Given the description of an element on the screen output the (x, y) to click on. 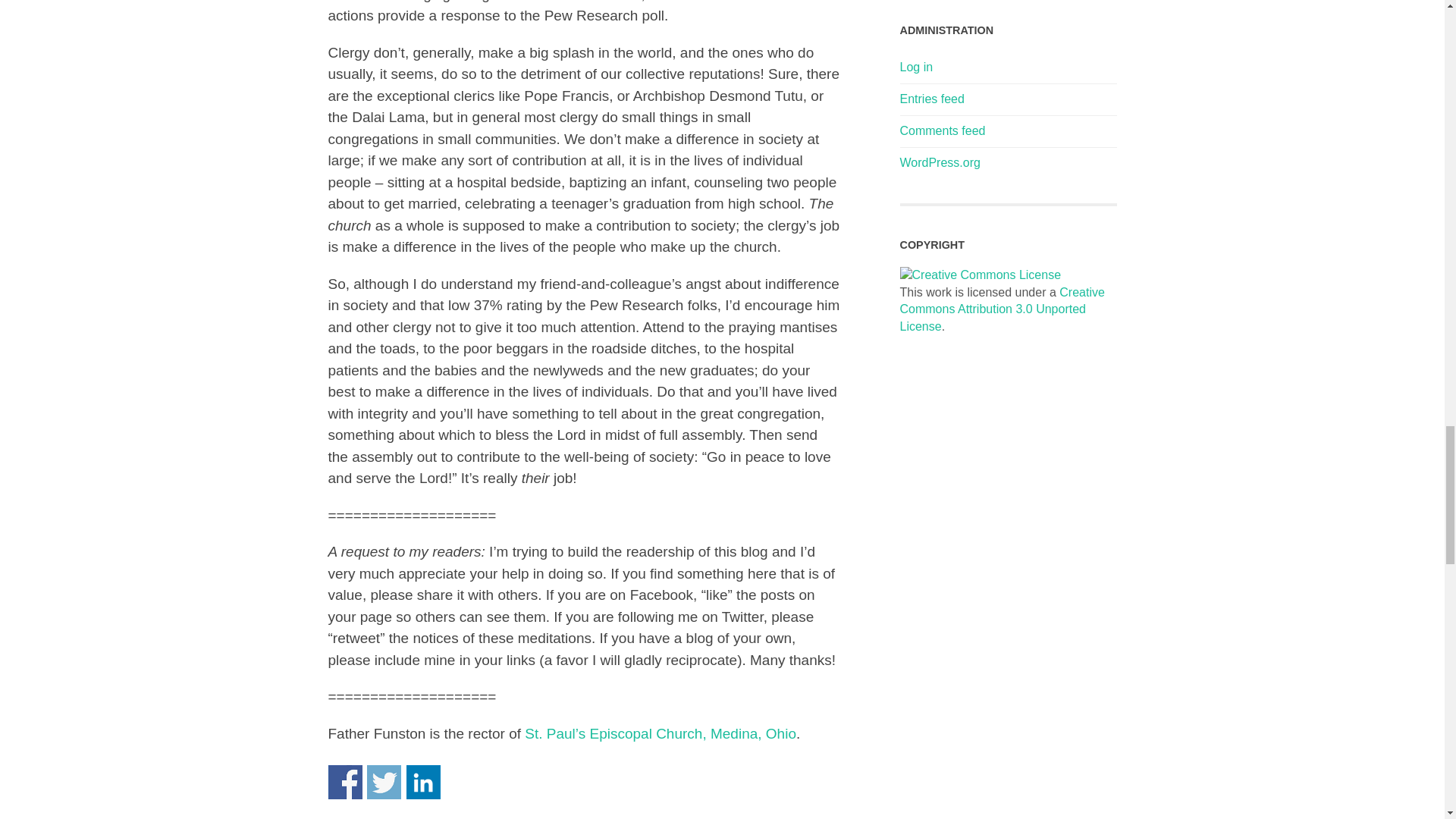
Share on Facebook (344, 781)
St. Paul's Episcopal Church (660, 733)
Share on Linkedin (423, 781)
Share on Twitter (383, 781)
